Given the description of an element on the screen output the (x, y) to click on. 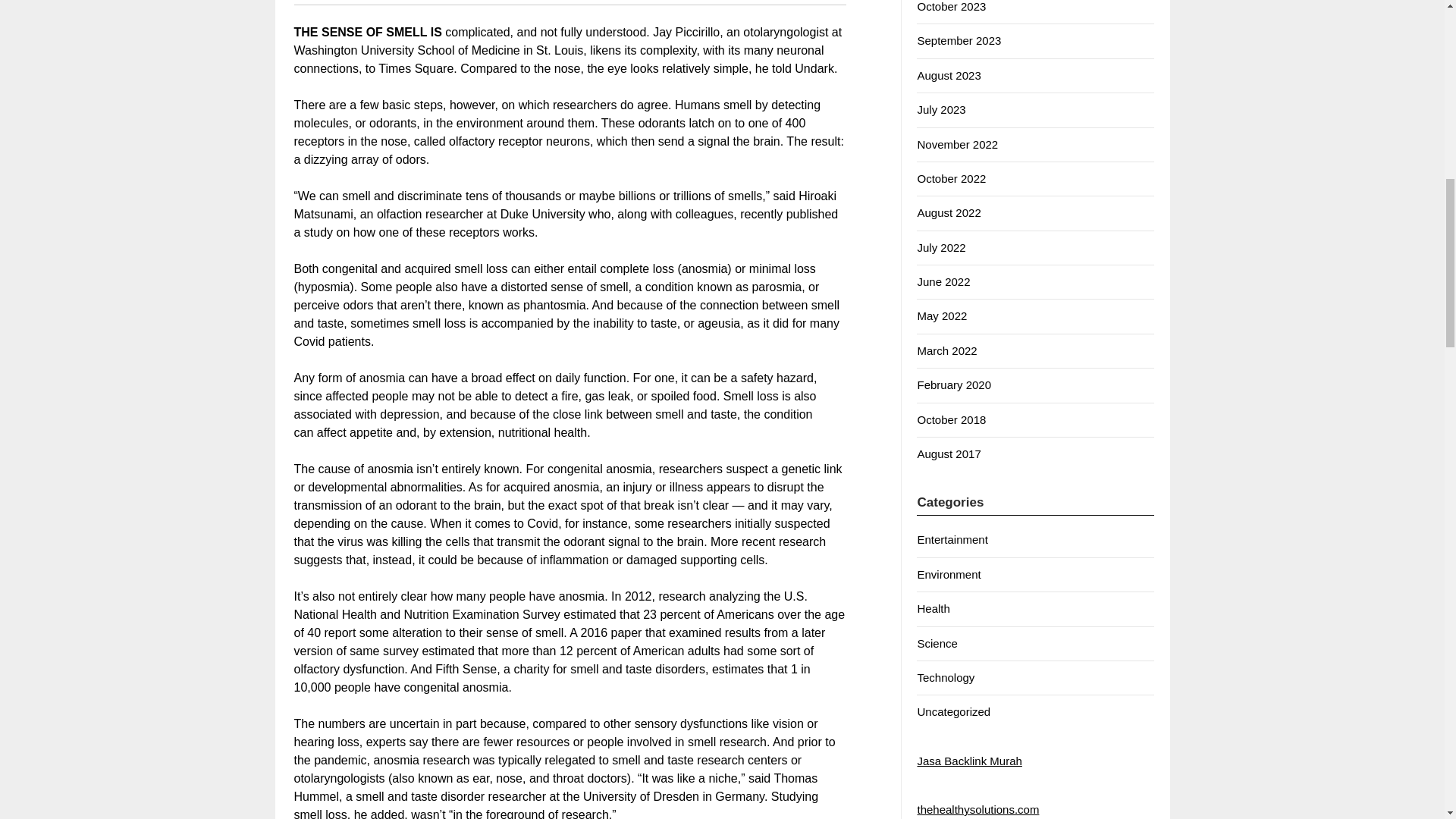
November 2022 (957, 144)
June 2022 (943, 281)
September 2023 (959, 40)
August 2023 (948, 74)
August 2022 (948, 212)
October 2023 (951, 6)
October 2022 (951, 178)
July 2022 (941, 246)
July 2023 (941, 109)
